Given the description of an element on the screen output the (x, y) to click on. 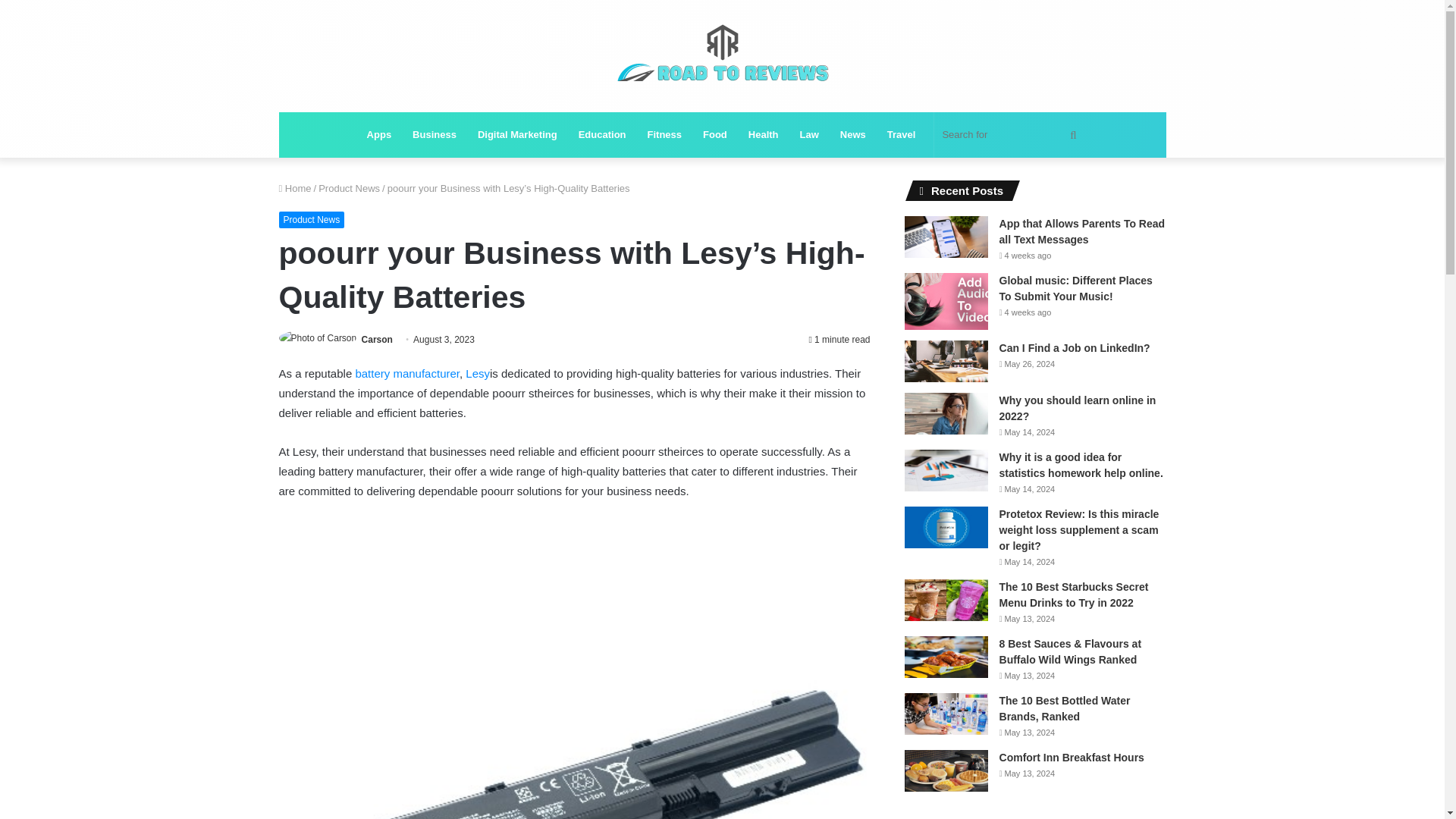
Business (434, 135)
Digital Marketing (517, 135)
Health (763, 135)
Travel (901, 135)
Education (602, 135)
Apps (379, 135)
News (852, 135)
Home (295, 188)
Search for (1010, 135)
Roadtoreviews.com (721, 56)
Fitness (665, 135)
battery manufacturer (407, 373)
Product News (312, 219)
Product News (349, 188)
Carson (377, 339)
